Given the description of an element on the screen output the (x, y) to click on. 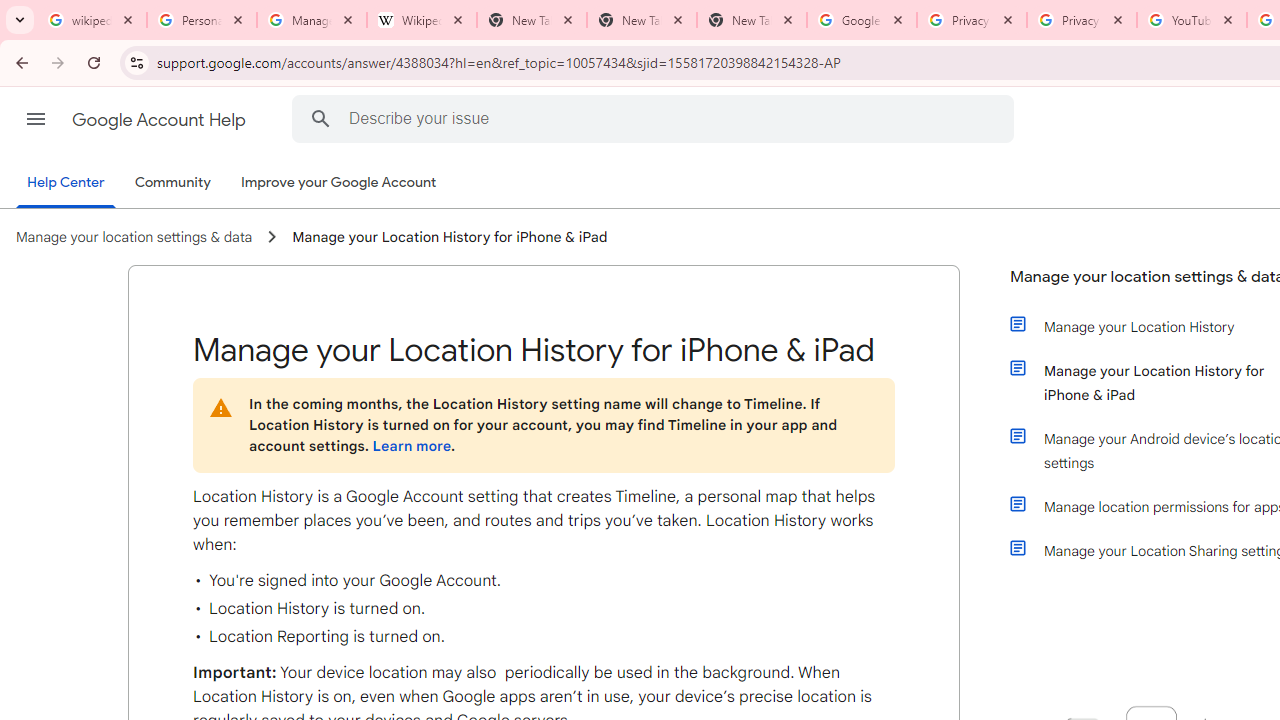
New Tab (642, 20)
New Tab (752, 20)
YouTube (1191, 20)
Manage your location settings & data (134, 237)
Manage your Location History - Google Search Help (312, 20)
Manage your Location History for iPhone & iPad (449, 237)
